Given the description of an element on the screen output the (x, y) to click on. 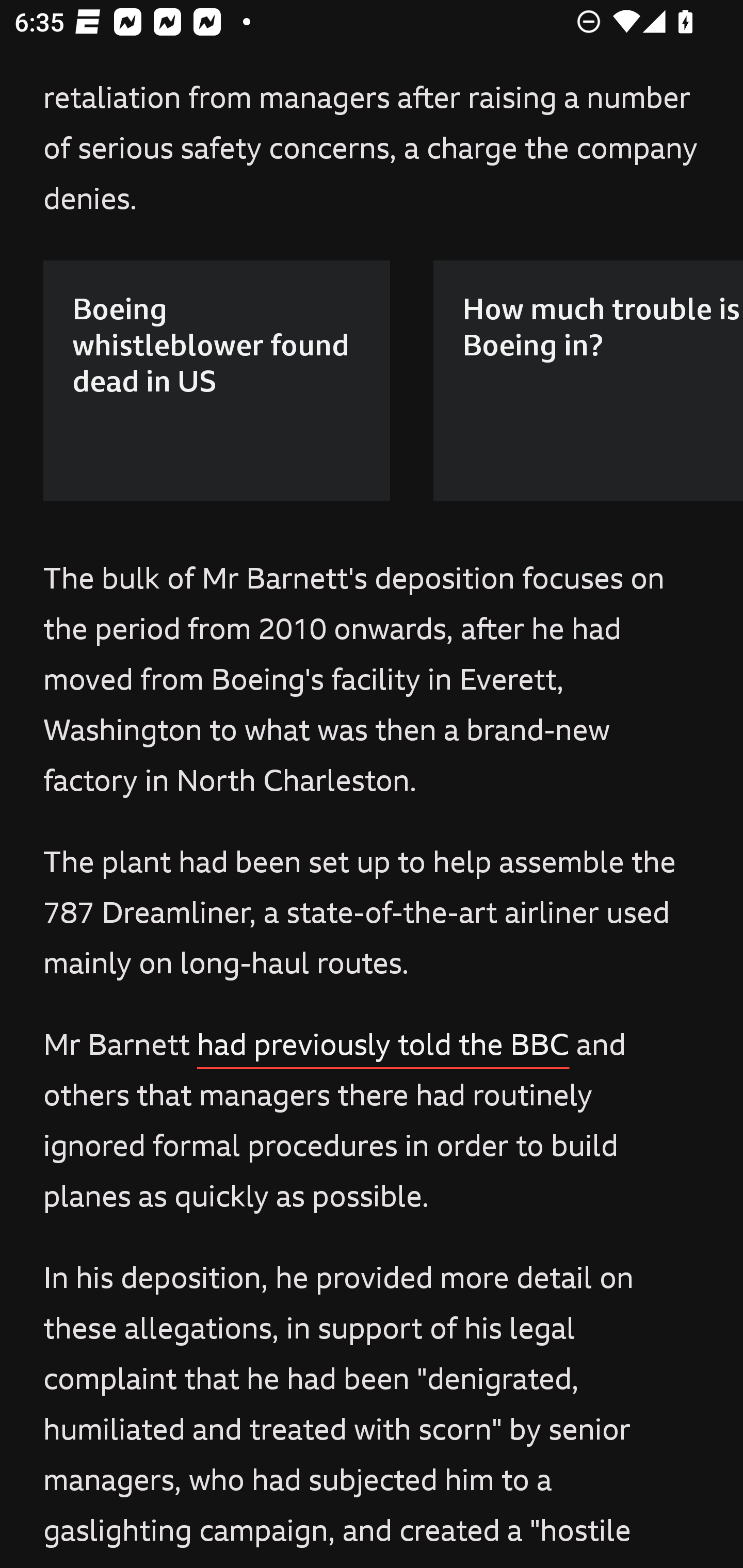
Boeing whistleblower found dead in US (216, 380)
How much trouble is Boeing in? (588, 380)
